Given the description of an element on the screen output the (x, y) to click on. 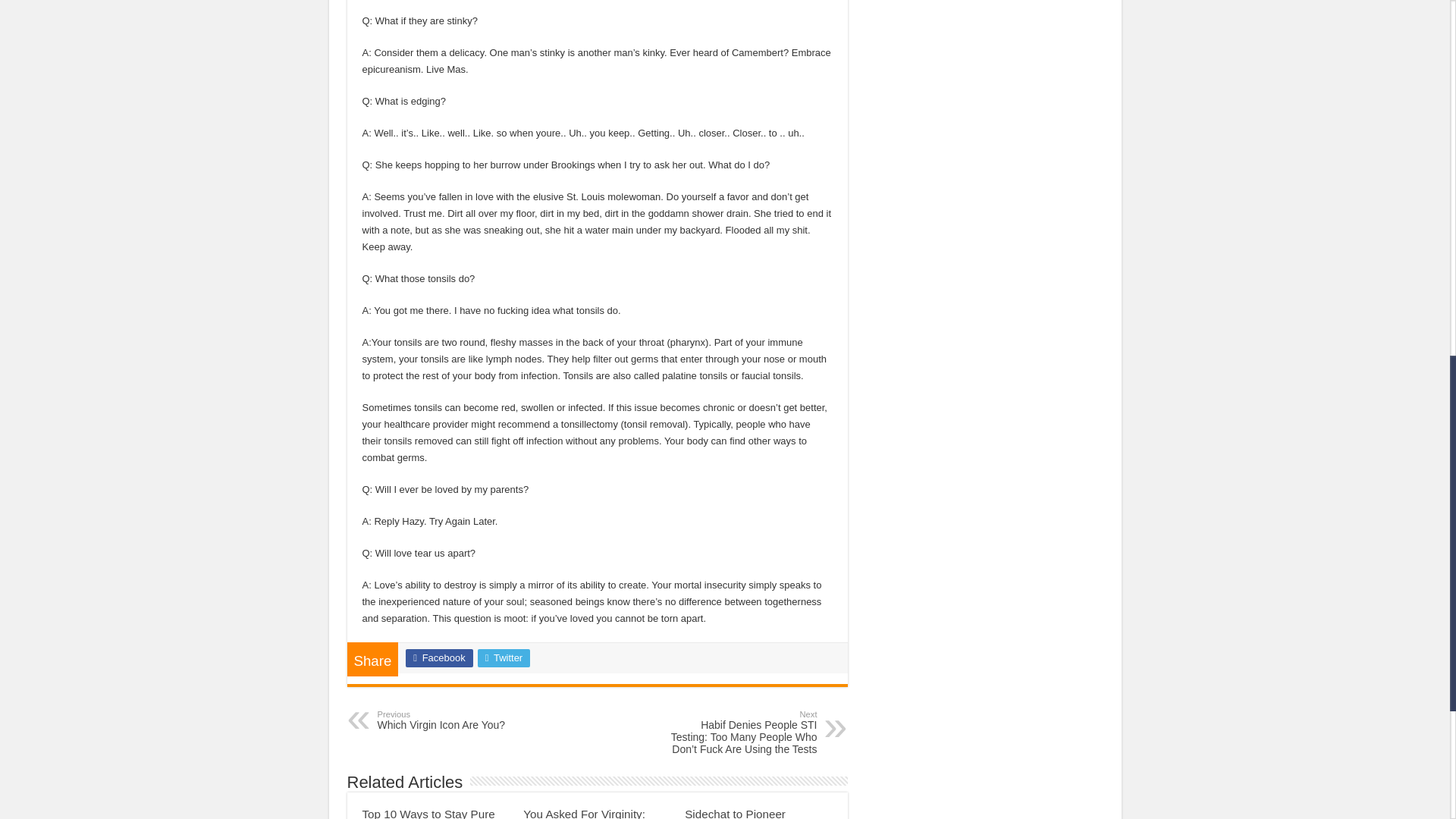
Sidechat to Pioneer Celibacy Awareness Club (749, 813)
Top 10 Ways to Stay Pure While Being Tempted (428, 813)
Twitter (454, 720)
Facebook (503, 658)
